Given the description of an element on the screen output the (x, y) to click on. 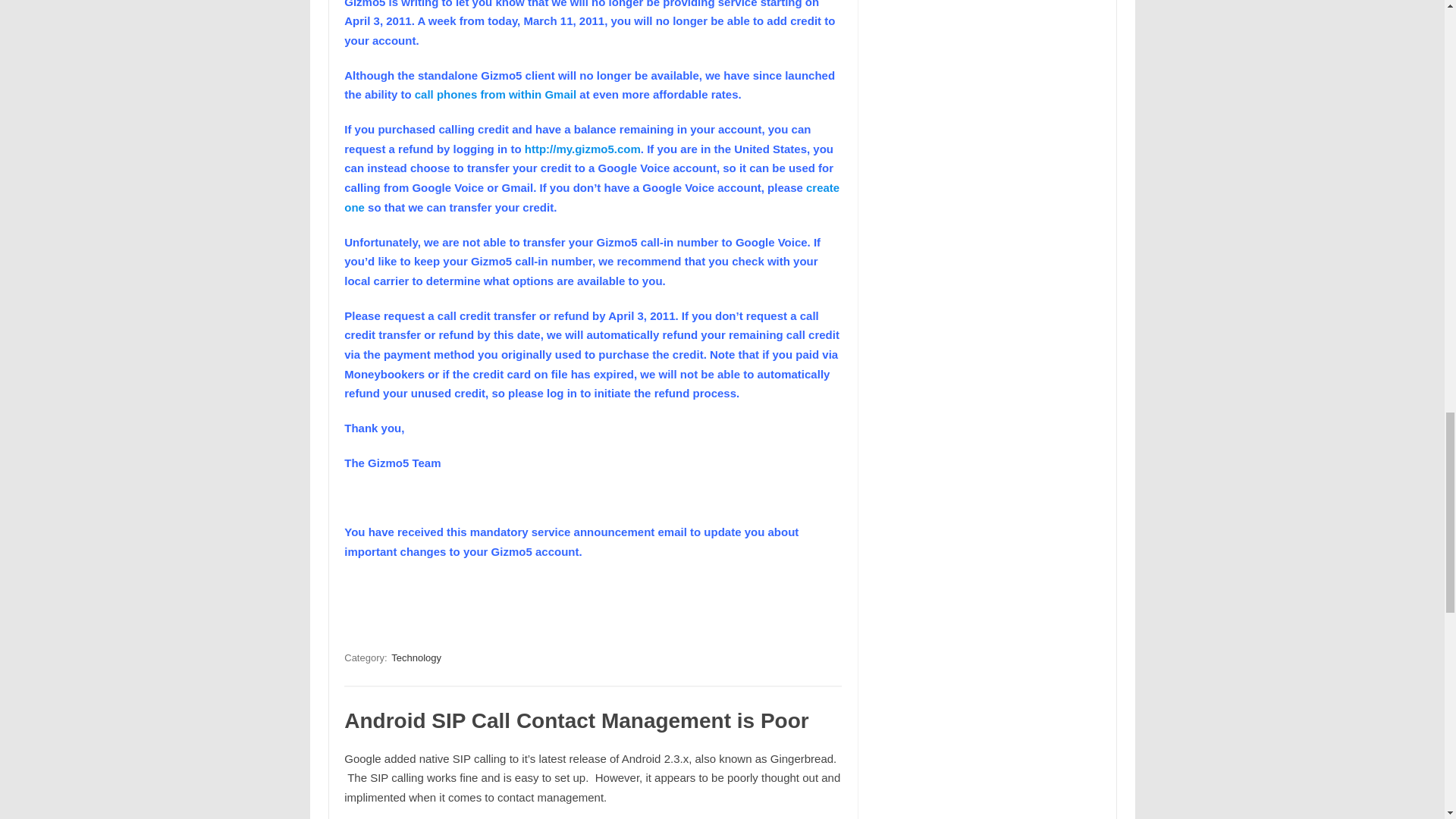
Permalink to Android SIP Call Contact Management is Poor (575, 720)
Android SIP Call Contact Management is Poor (575, 720)
create one (591, 196)
Technology (416, 657)
call phones from within Gmail (495, 93)
